Given the description of an element on the screen output the (x, y) to click on. 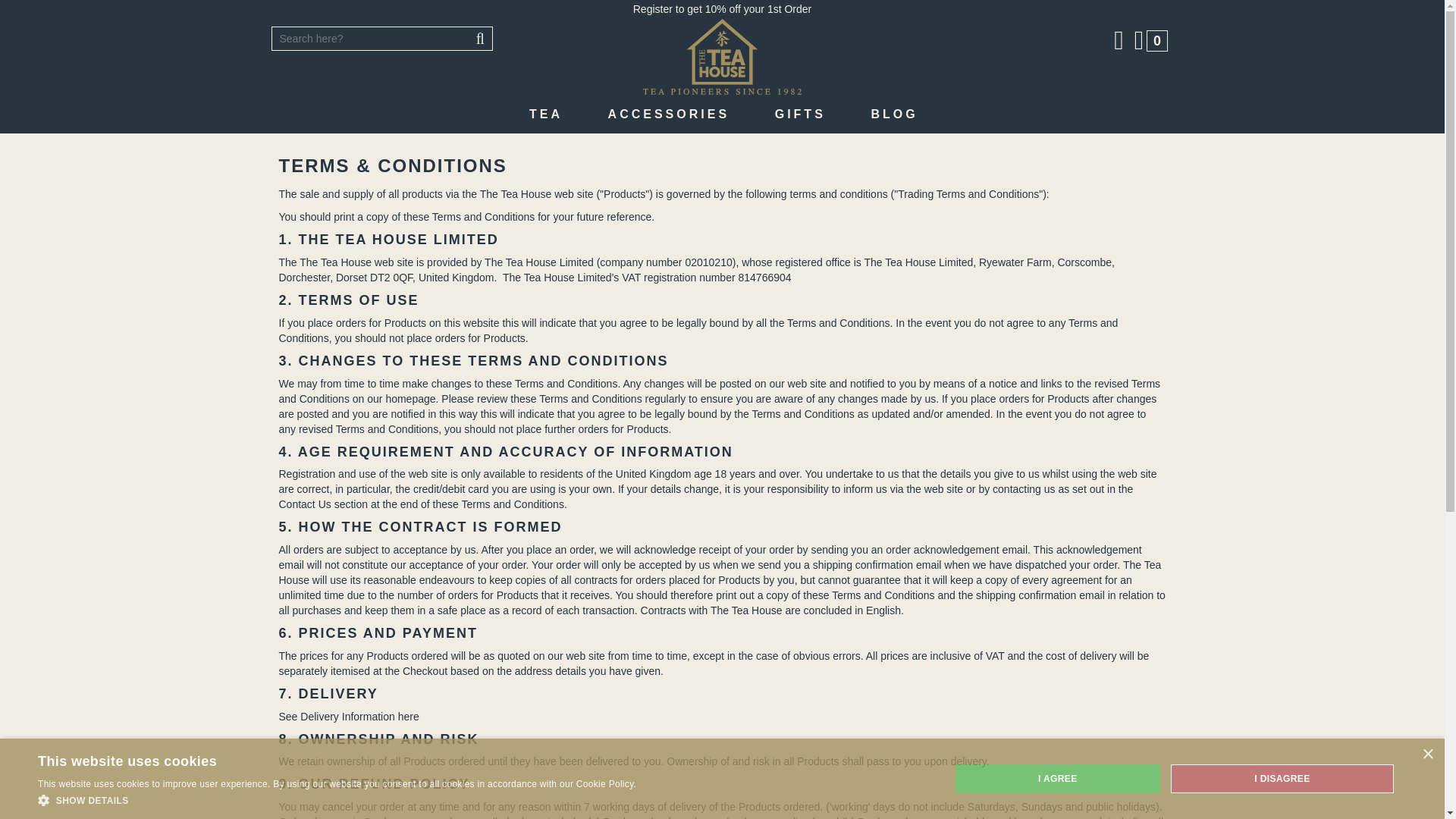
The Tea House (722, 56)
ACCESSORIES (668, 114)
TEA (545, 114)
0 (1150, 40)
